Given the description of an element on the screen output the (x, y) to click on. 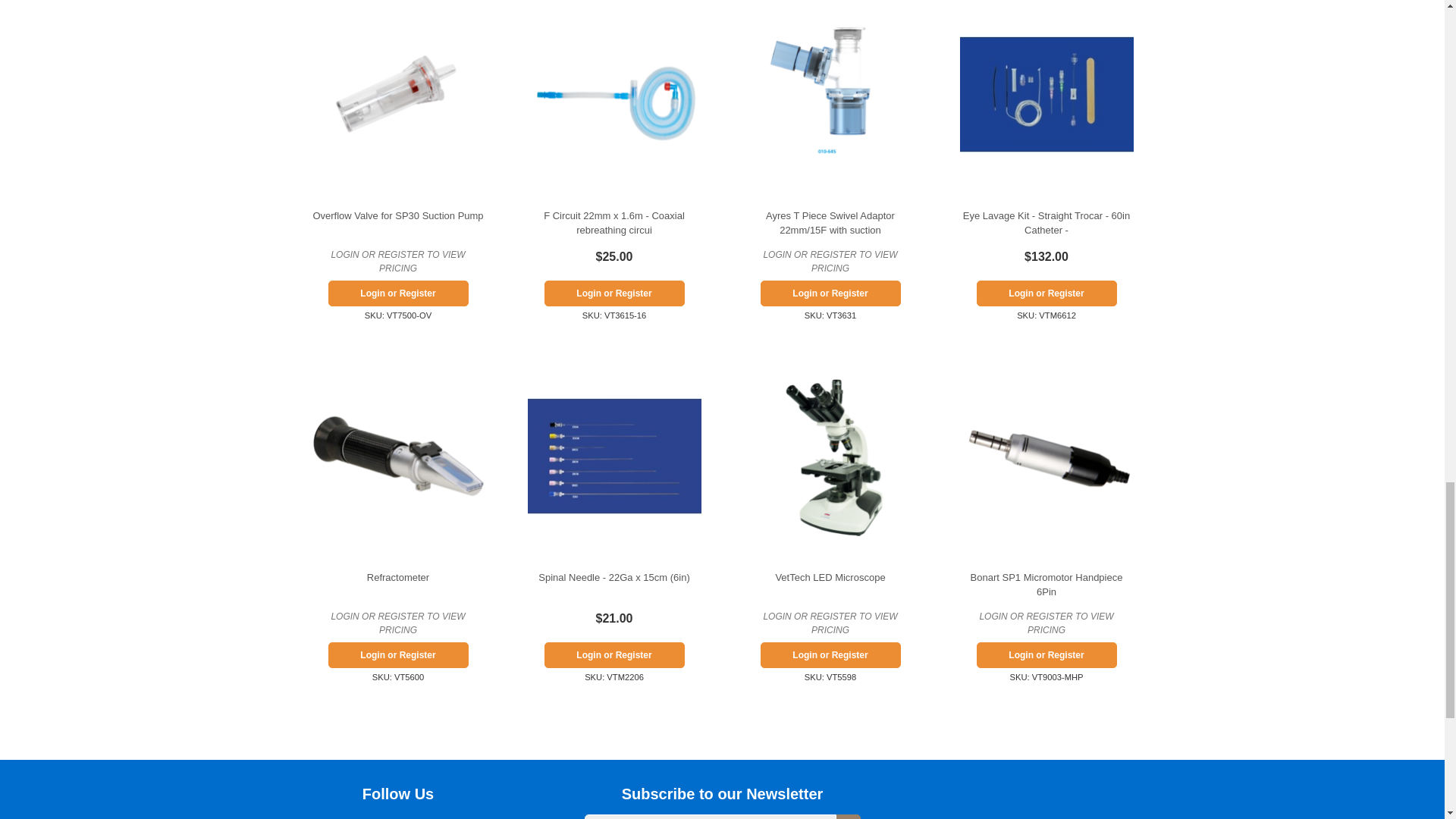
Login or Register (1046, 293)
Login or Register (829, 293)
Login or Register (397, 293)
Login or Register (614, 293)
Login or Register (397, 655)
Login or Register (829, 655)
Login or Register (614, 655)
Login or Register (1046, 655)
